Given the description of an element on the screen output the (x, y) to click on. 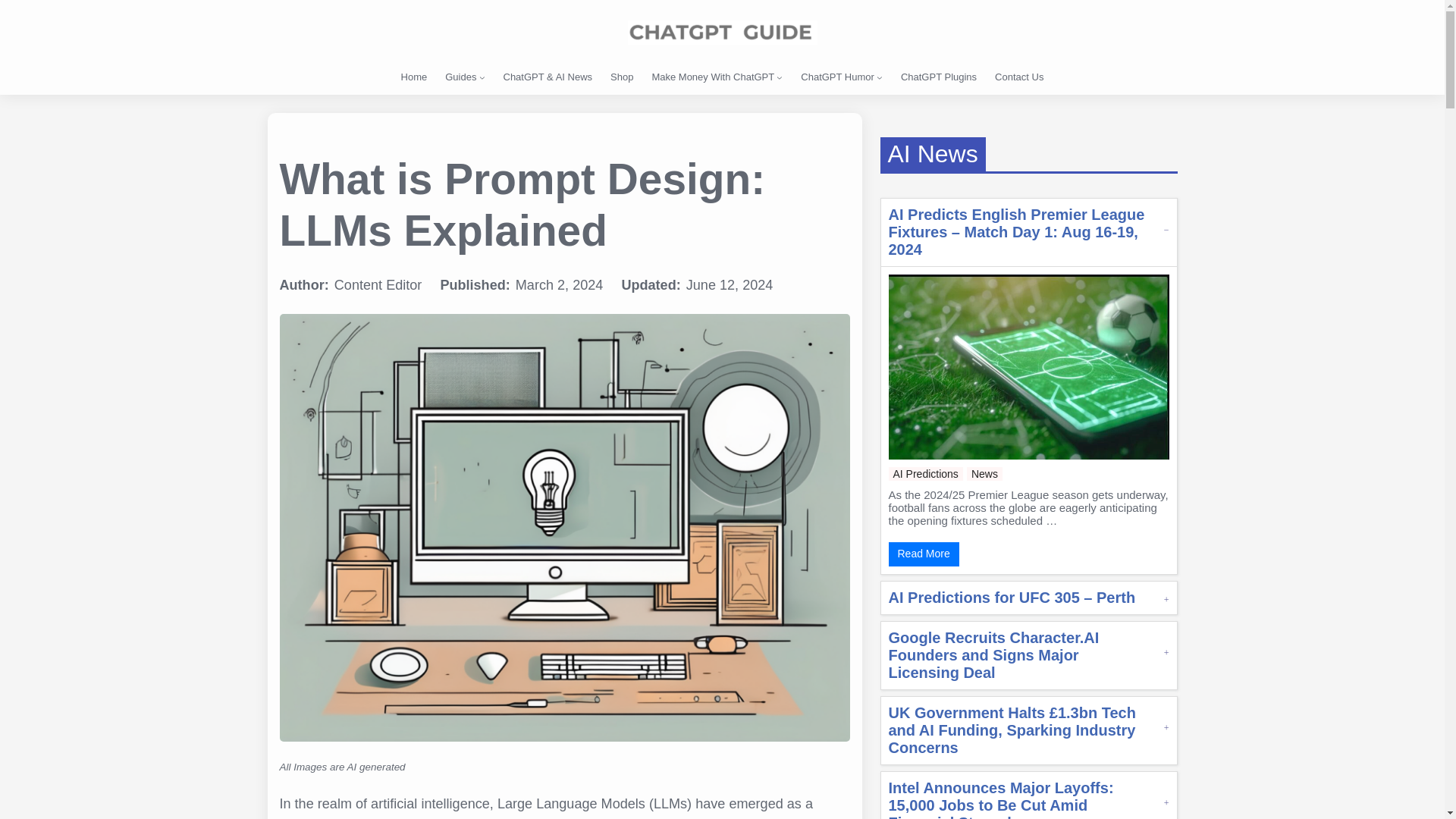
Shop (621, 76)
Guides (460, 76)
Make Money With ChatGPT (712, 76)
News (984, 473)
Home (414, 76)
AI Predictions (925, 473)
ChatGPT Humor (837, 76)
ChatGPT Plugins (938, 76)
Contact Us (1018, 76)
